Given the description of an element on the screen output the (x, y) to click on. 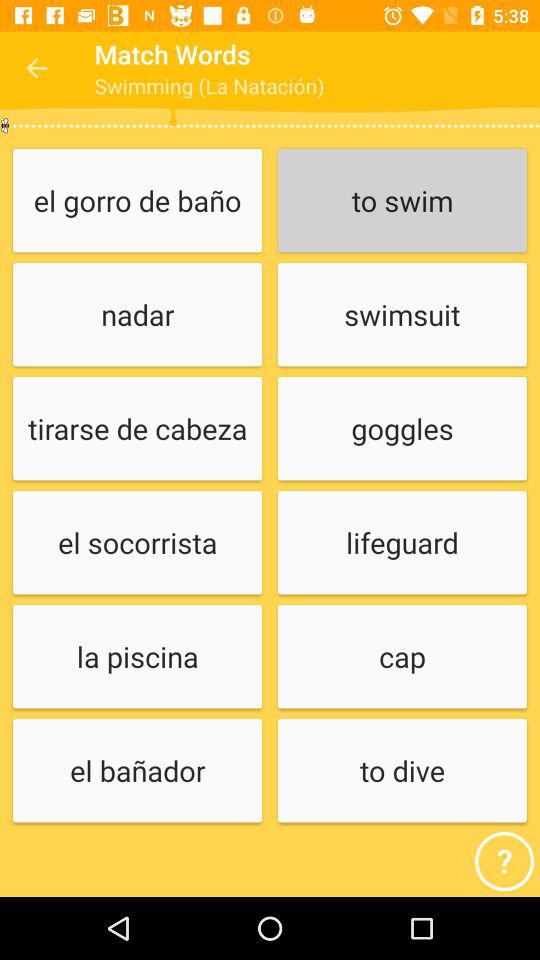
click item above la piscina (137, 543)
